Given the description of an element on the screen output the (x, y) to click on. 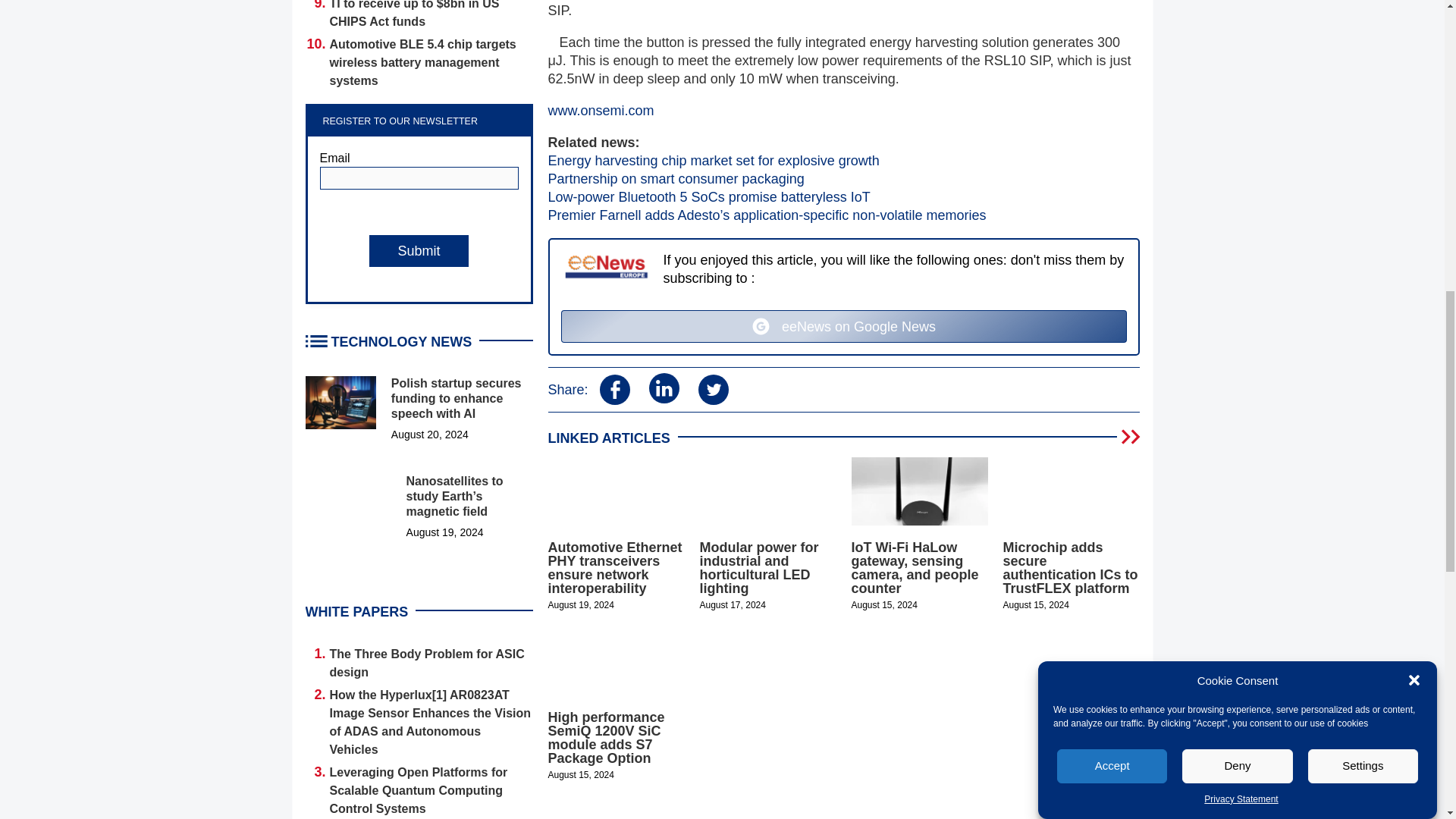
Submit (418, 250)
Settings (1362, 173)
Accept (1112, 235)
Privacy Statement (1241, 100)
Deny (1237, 204)
